Given the description of an element on the screen output the (x, y) to click on. 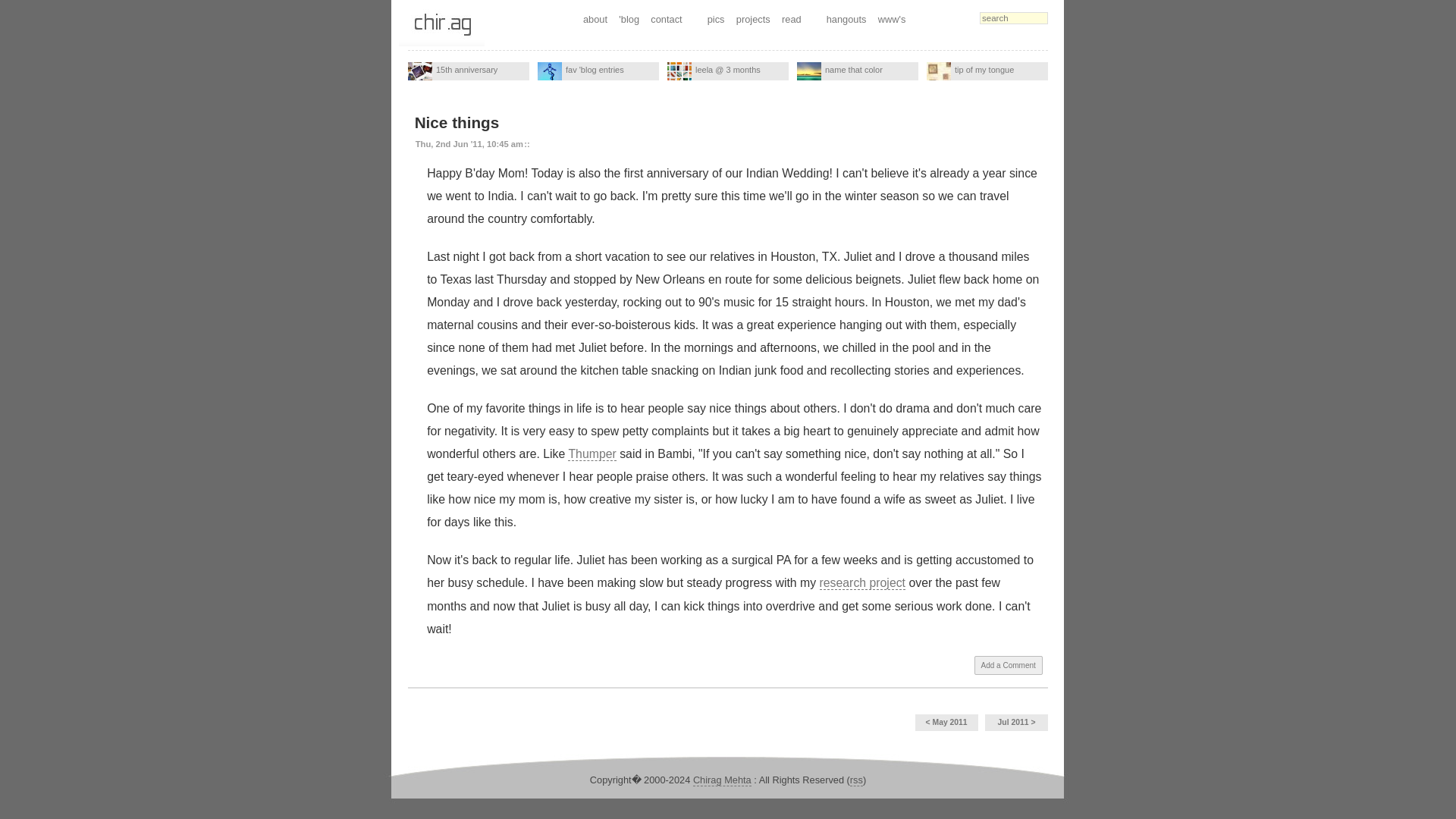
projects (753, 19)
tip of my tongue (938, 71)
'blog (628, 19)
contact (666, 19)
fav 'blog entries (598, 71)
15th anniversary (468, 71)
search (1013, 18)
fav 'blog entries (549, 71)
name that color (808, 71)
hangouts (846, 19)
www's (891, 19)
read (791, 19)
pics (715, 19)
15th anniversary (419, 71)
about (594, 19)
